Given the description of an element on the screen output the (x, y) to click on. 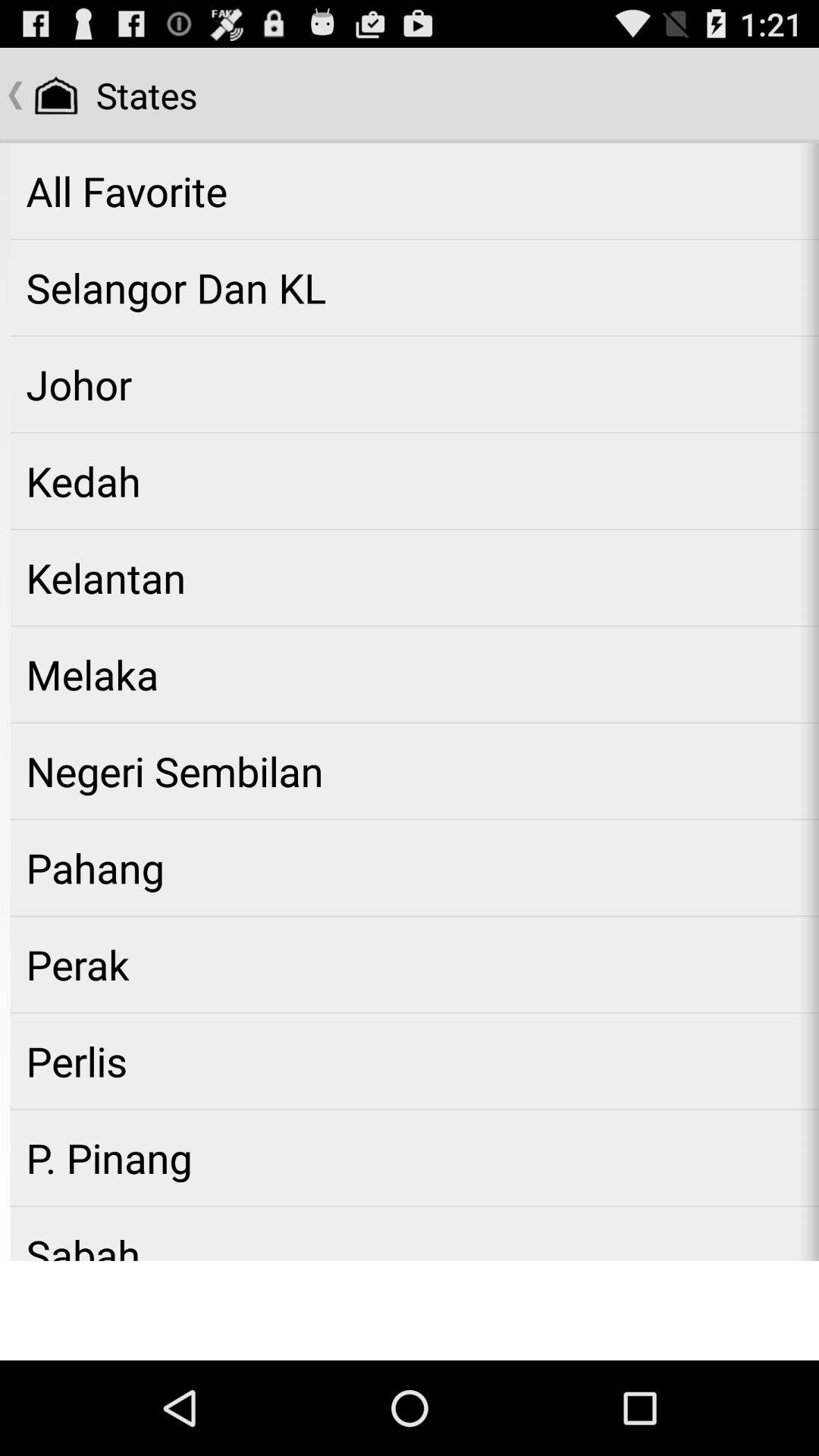
turn on the app below the melaka (414, 771)
